Given the description of an element on the screen output the (x, y) to click on. 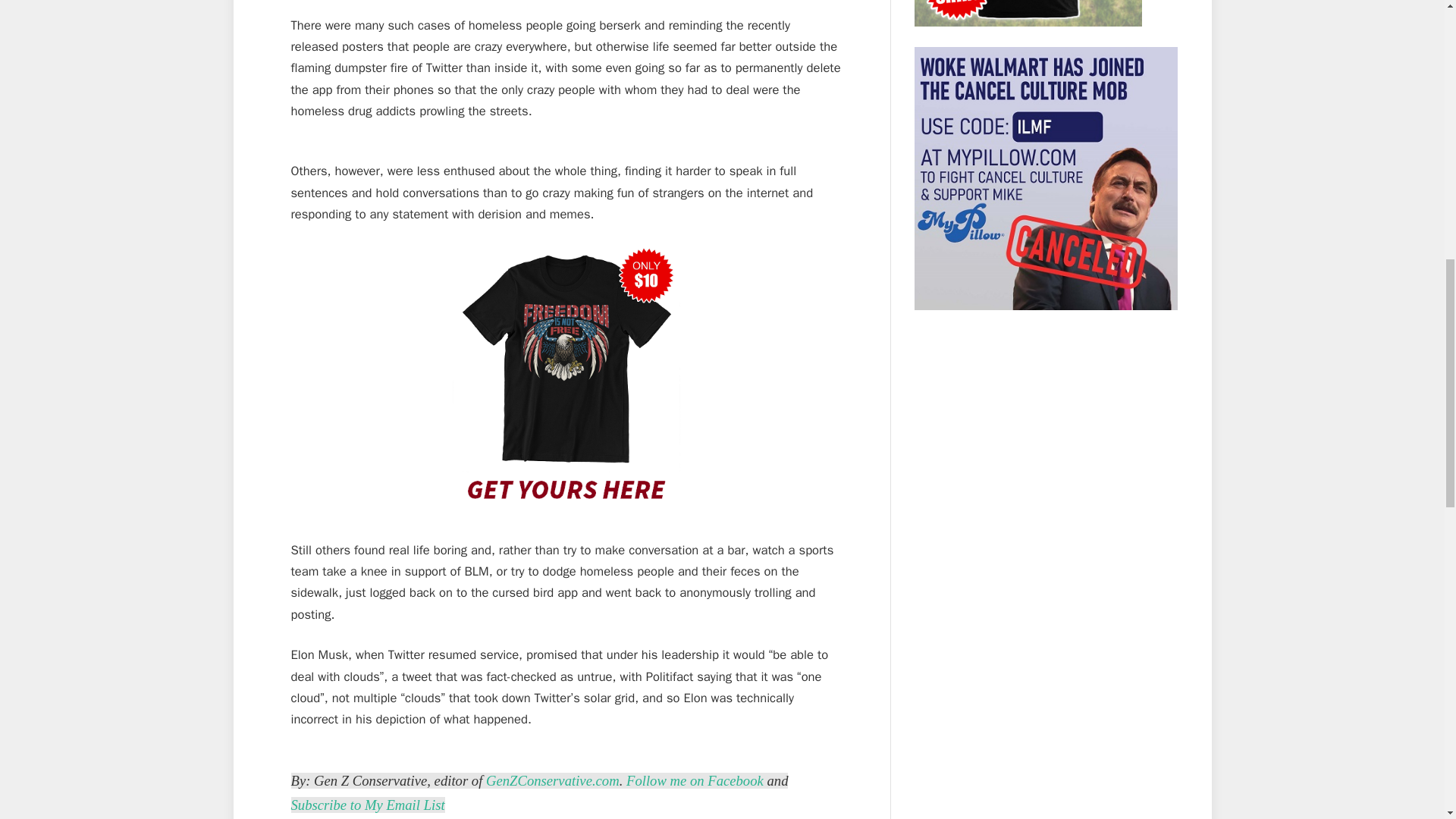
Subscribe to My Email List (368, 804)
Follow me on Facebook (694, 780)
GenZConservative.com (553, 780)
